Given the description of an element on the screen output the (x, y) to click on. 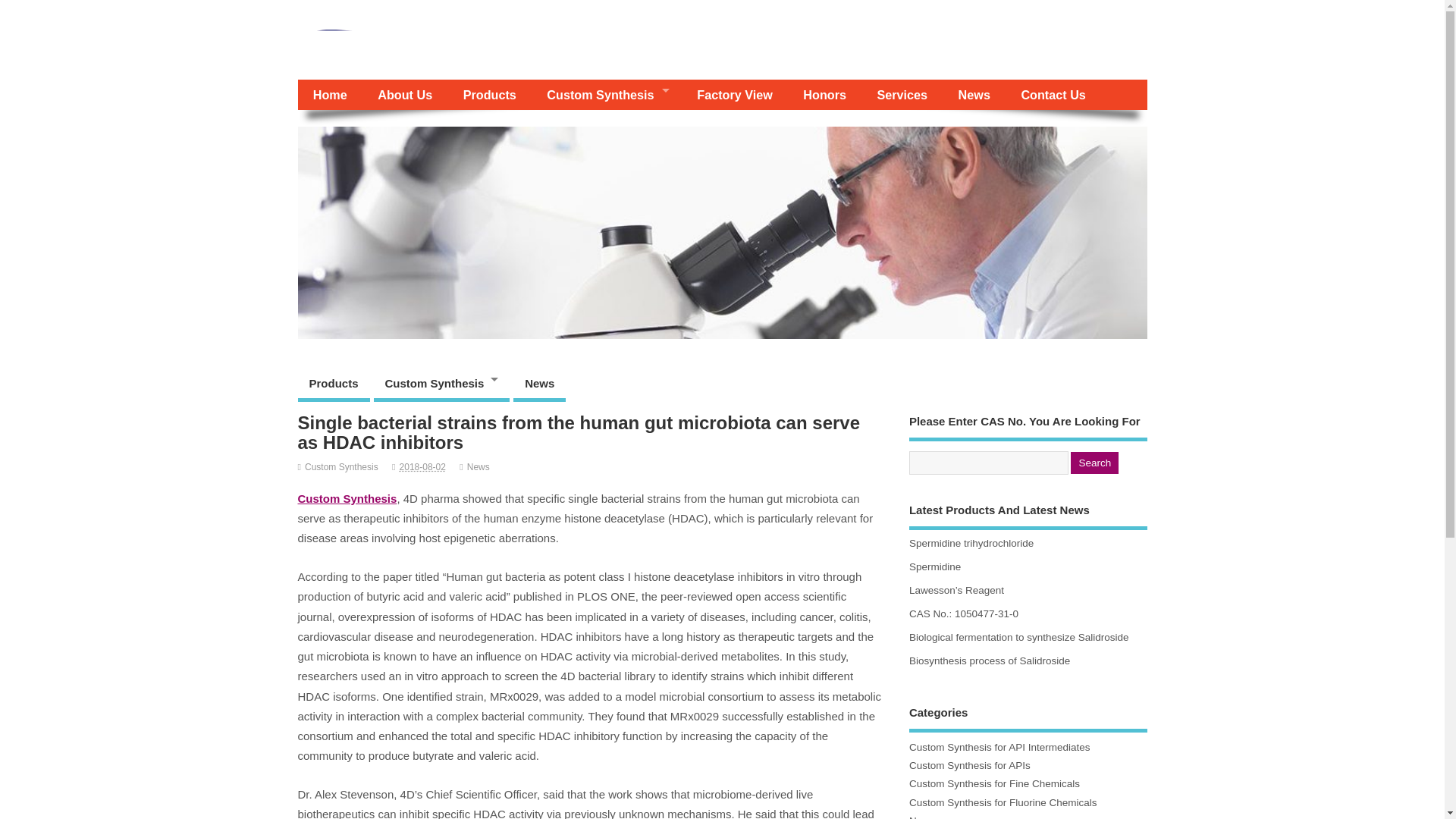
Posts by Custom Synthesis (341, 466)
Services (901, 94)
Custom Synthesis (606, 94)
Factory View (734, 94)
Products (333, 385)
Search (1094, 463)
About Us (404, 94)
Honors (824, 94)
Spermidine trihydrochloride (970, 542)
Custom Synthesis (442, 385)
